Given the description of an element on the screen output the (x, y) to click on. 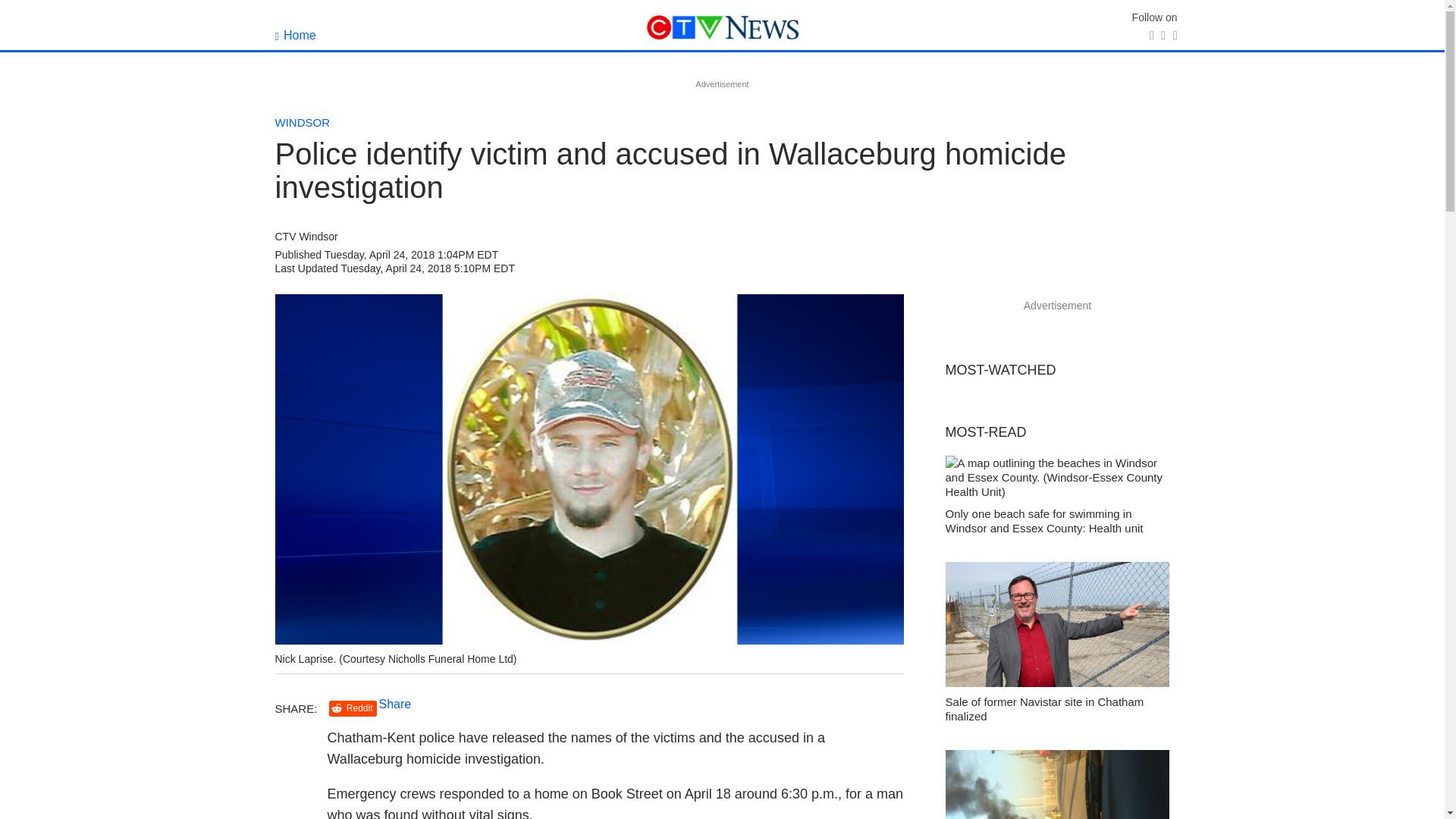
Home (295, 34)
WINDSOR (302, 122)
Share (395, 703)
Reddit (353, 708)
